Given the description of an element on the screen output the (x, y) to click on. 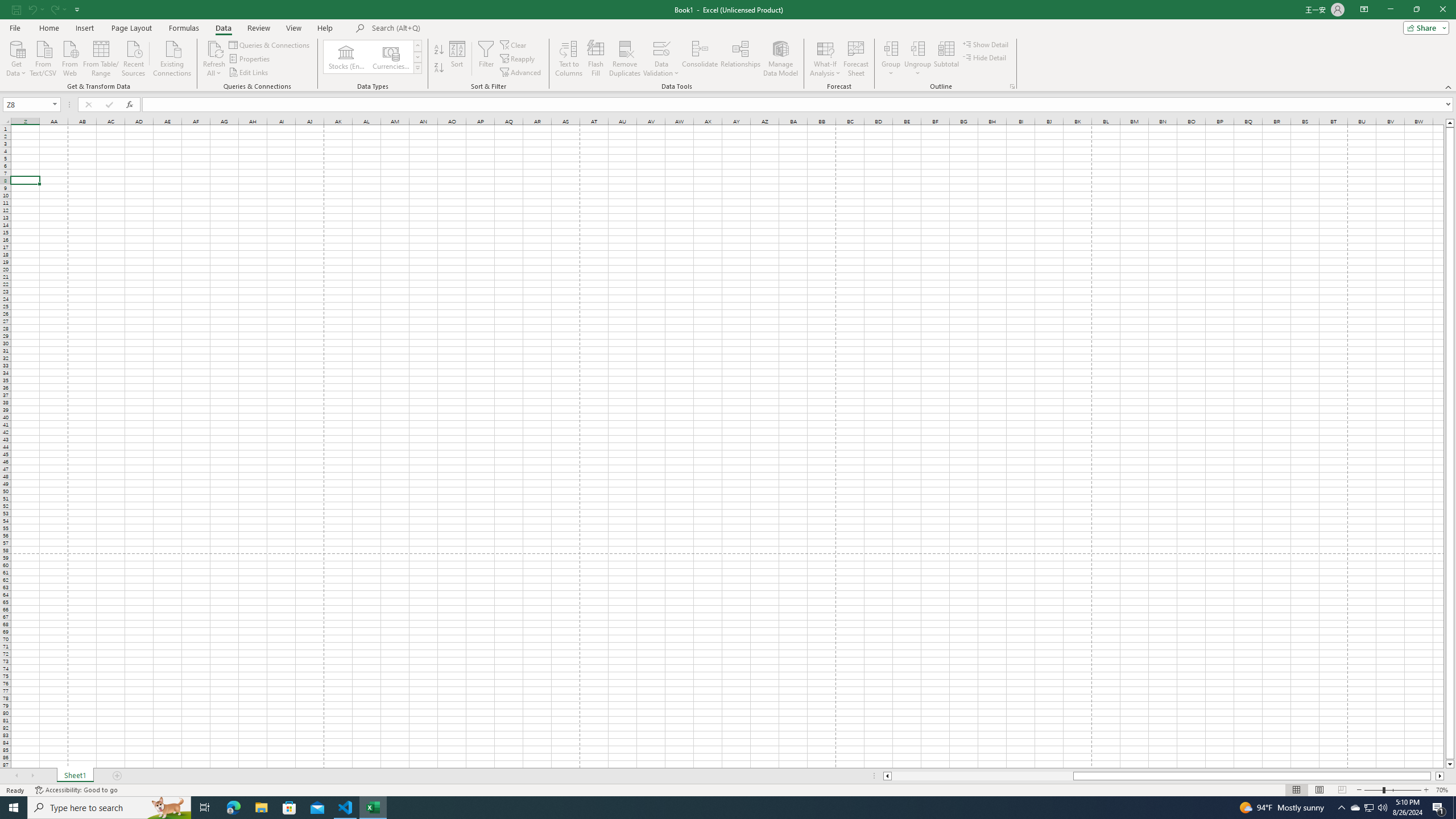
Consolidate... (700, 58)
